Given the description of an element on the screen output the (x, y) to click on. 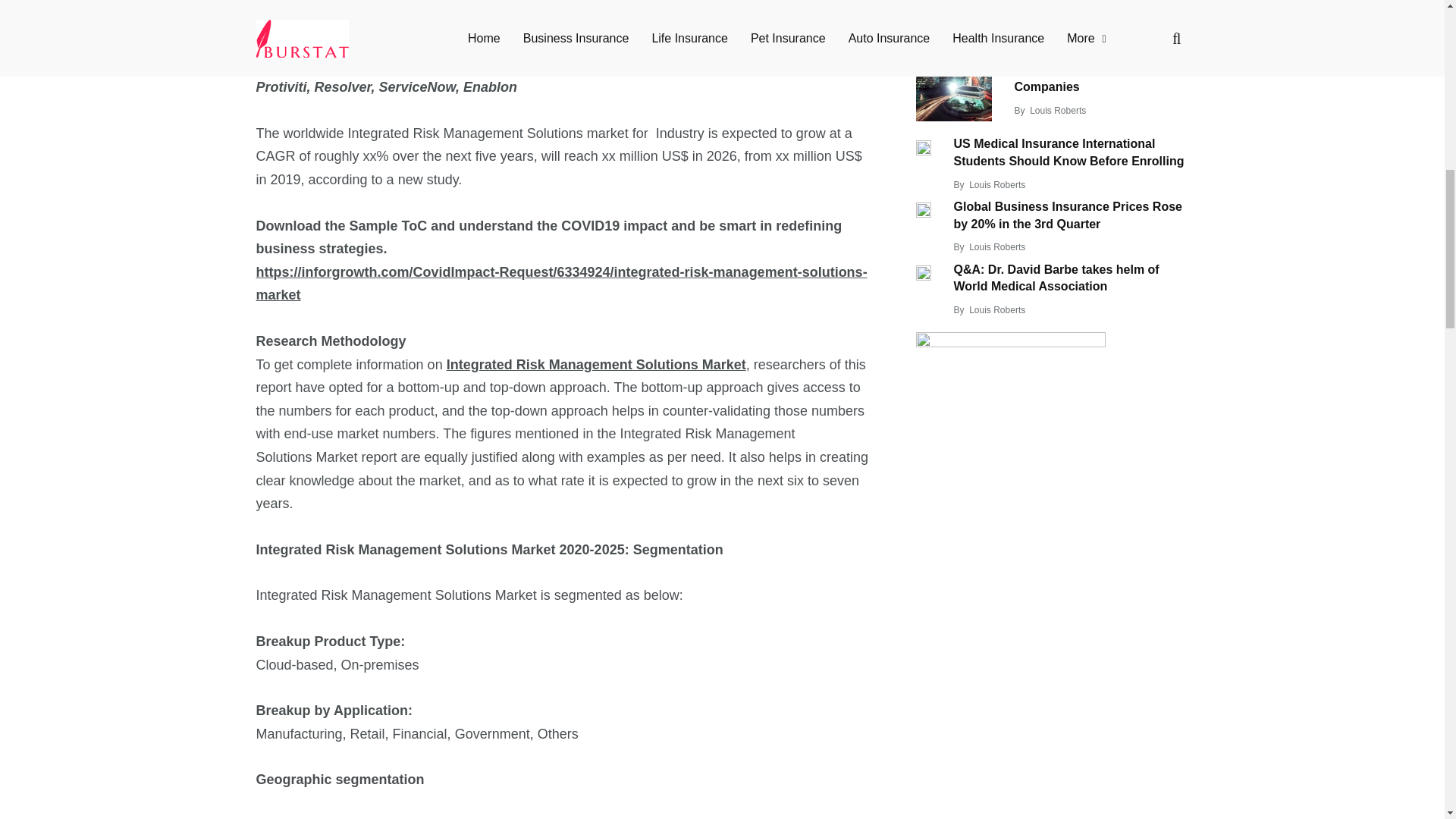
Posts by Louis Roberts (1057, 110)
Integrated Risk Management Solutions Market (595, 364)
Posts by Louis Roberts (997, 309)
Posts by Louis Roberts (997, 184)
Posts by Louis Roberts (997, 246)
